Given the description of an element on the screen output the (x, y) to click on. 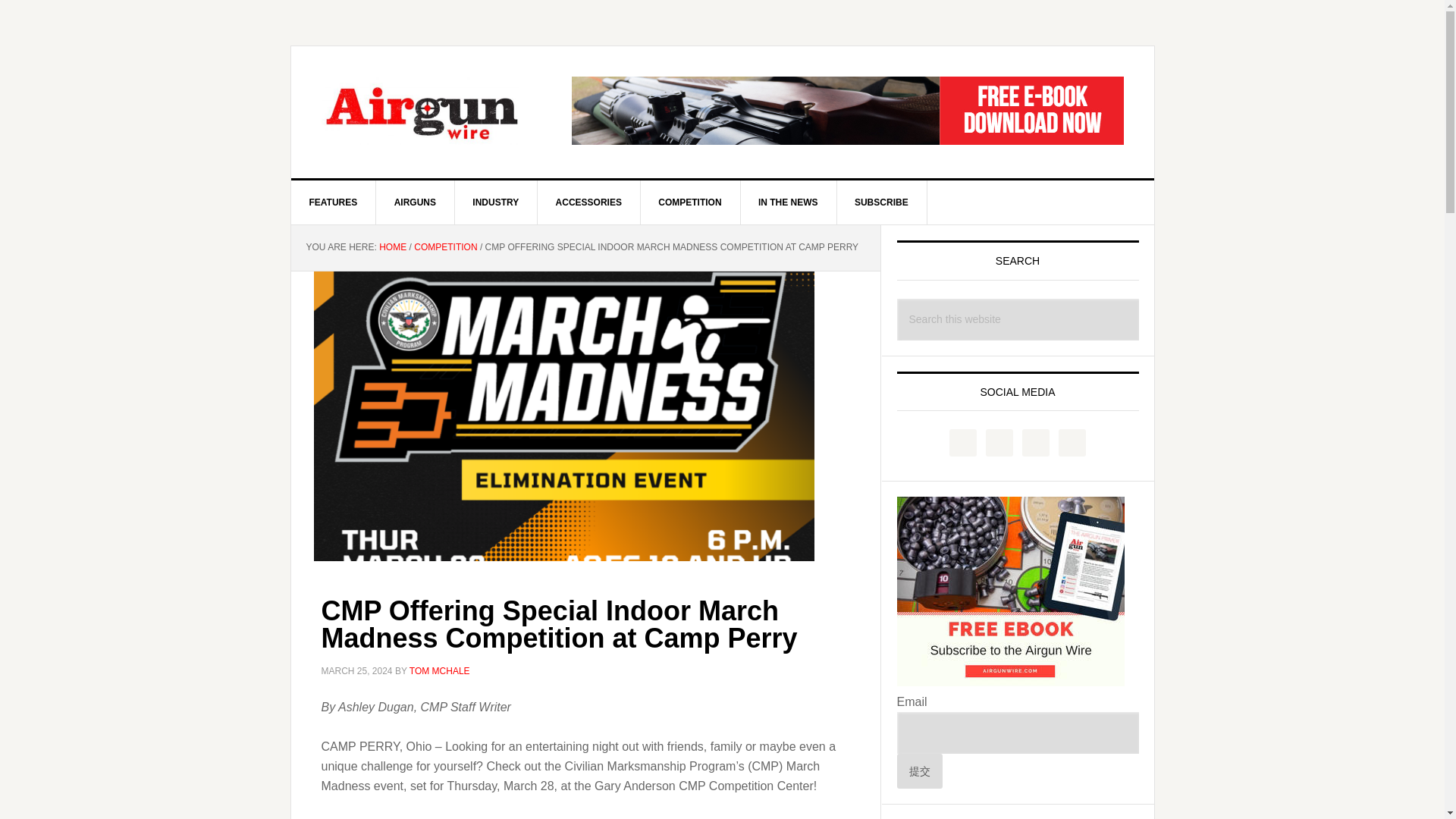
SUBSCRIBE (881, 202)
IN THE NEWS (788, 202)
FEATURES (334, 202)
COMPETITION (689, 202)
COMPETITION (445, 246)
TOM MCHALE (439, 670)
AIRGUN WIRE (419, 110)
HOME (392, 246)
INDUSTRY (495, 202)
AIRGUNS (414, 202)
ACCESSORIES (588, 202)
